Given the description of an element on the screen output the (x, y) to click on. 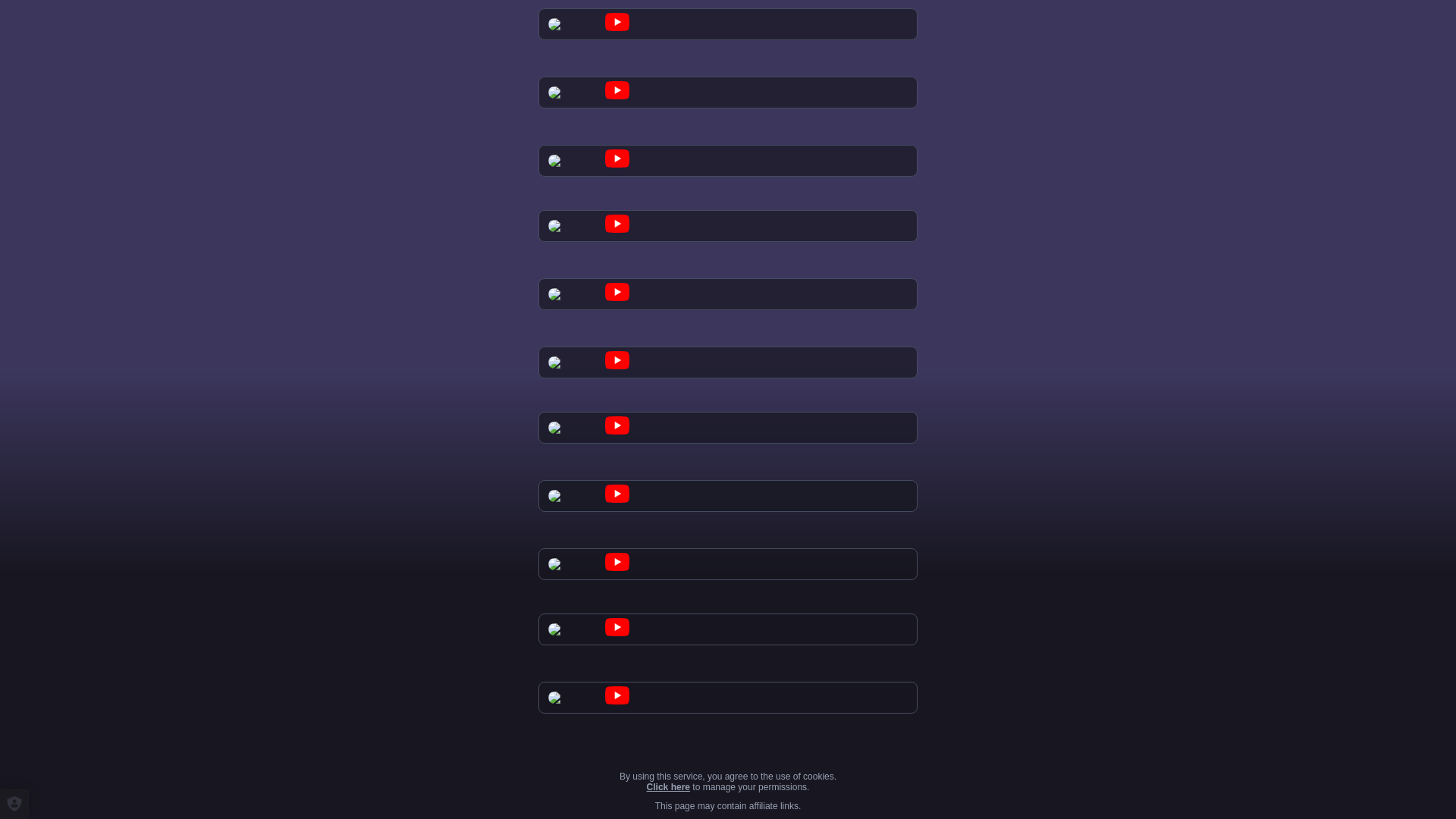
Click here (668, 787)
